Given the description of an element on the screen output the (x, y) to click on. 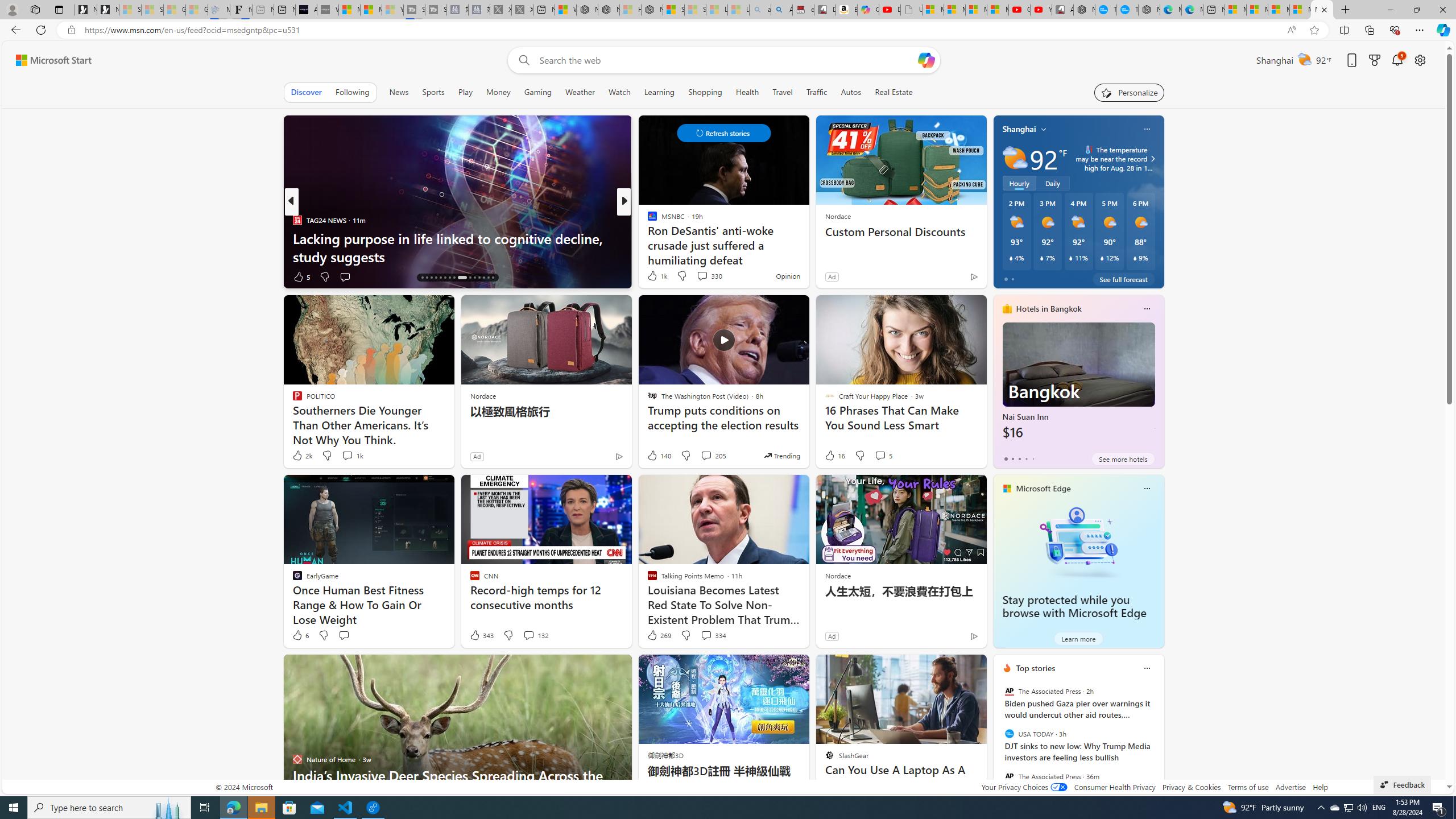
View comments 55 Comment (698, 276)
Autos (850, 92)
343 Like (480, 634)
View comments 55 Comment (704, 276)
View comments 330 Comment (708, 275)
LGBTQ Nation (647, 219)
View comments 152 Comment (6, 276)
Dangerous heat to head to Northeast after slamming Midwest (807, 247)
